Given the description of an element on the screen output the (x, y) to click on. 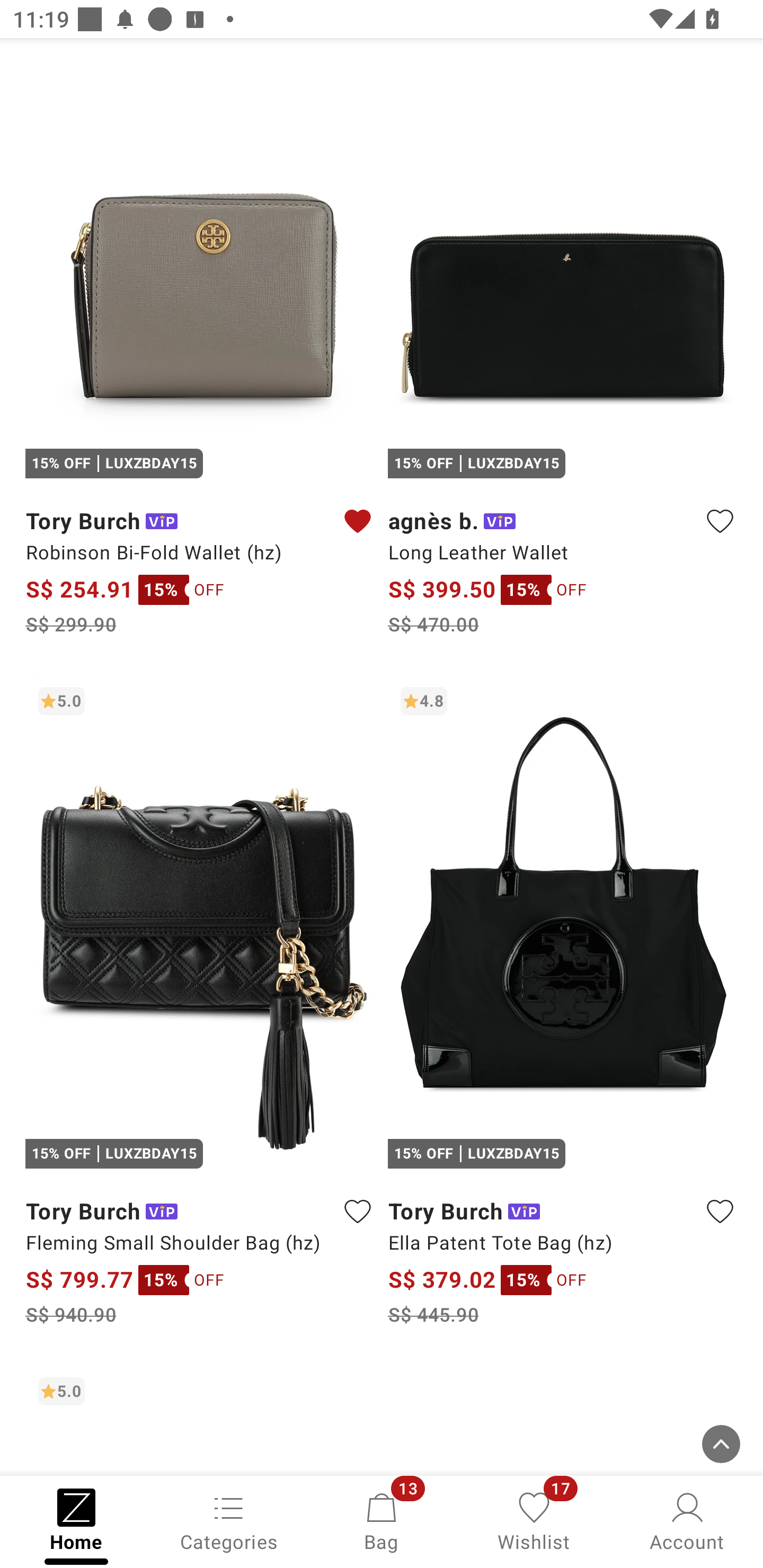
Categories (228, 1519)
Bag, 13 new notifications Bag (381, 1519)
Wishlist, 17 new notifications Wishlist (533, 1519)
Account (686, 1519)
